Given the description of an element on the screen output the (x, y) to click on. 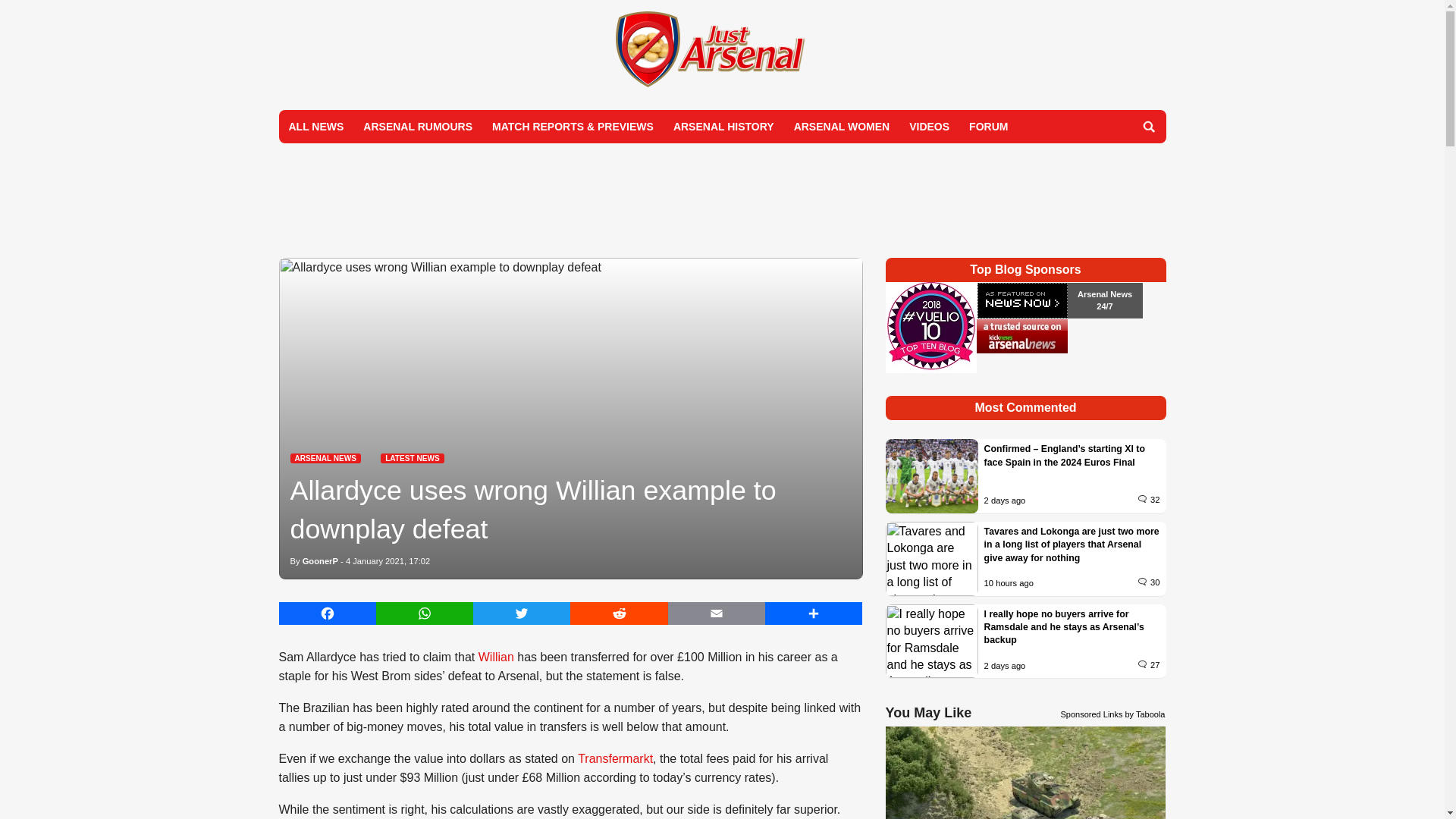
ALL NEWS (316, 126)
Reddit (618, 612)
LATEST NEWS (412, 458)
Twitter (521, 612)
ARSENAL RUMOURS (417, 126)
Latest Latest News News (412, 458)
Facebook (327, 612)
Latest Arsenal News News (325, 458)
Facebook (327, 612)
4 January 2021, 17:02 (387, 560)
Email (716, 612)
Email (716, 612)
Reddit (618, 612)
Twitter (521, 612)
